Given the description of an element on the screen output the (x, y) to click on. 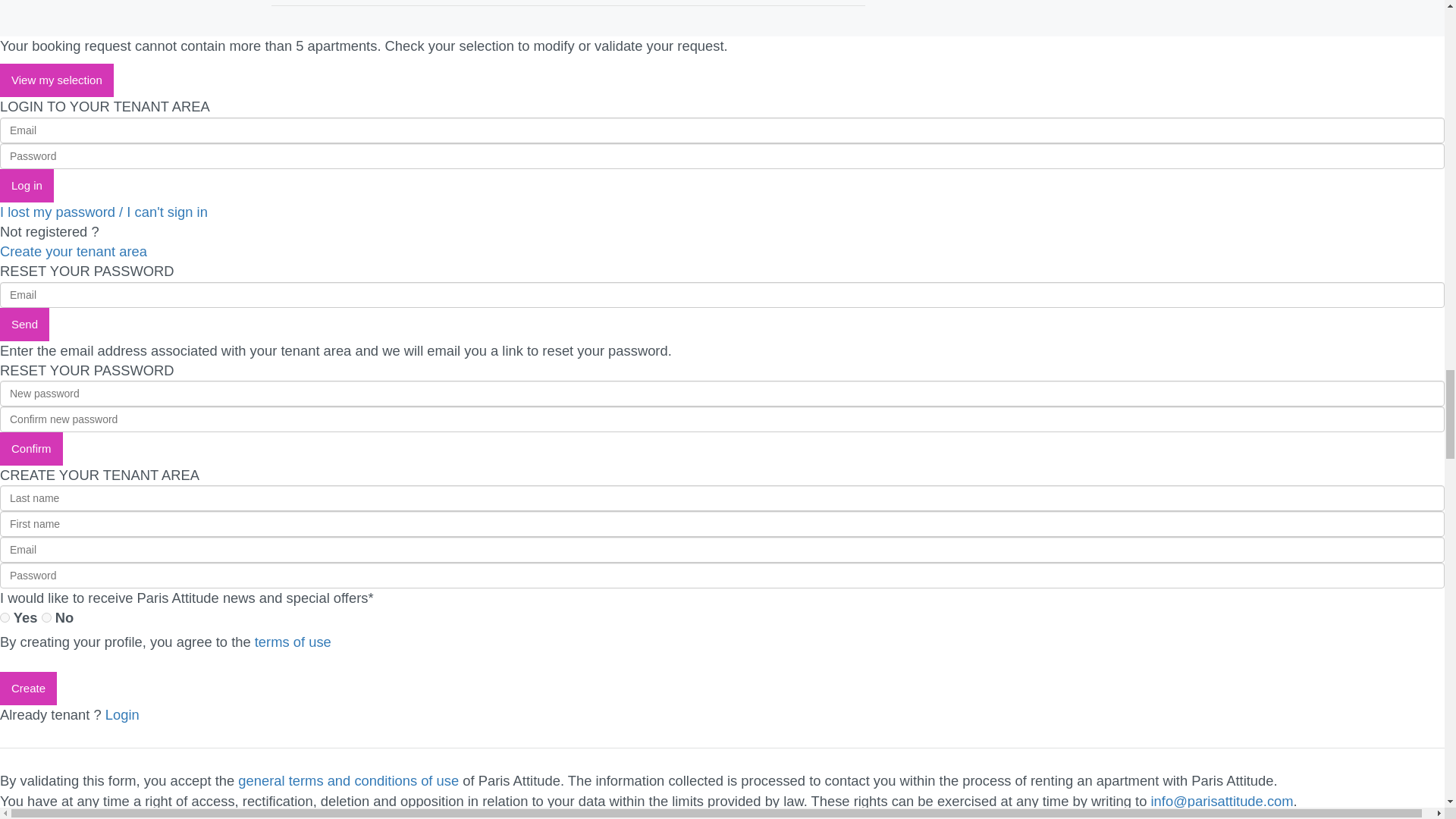
Create (28, 688)
False (46, 617)
Log in (26, 185)
Confirm (31, 449)
True (5, 617)
Send (24, 324)
